Given the description of an element on the screen output the (x, y) to click on. 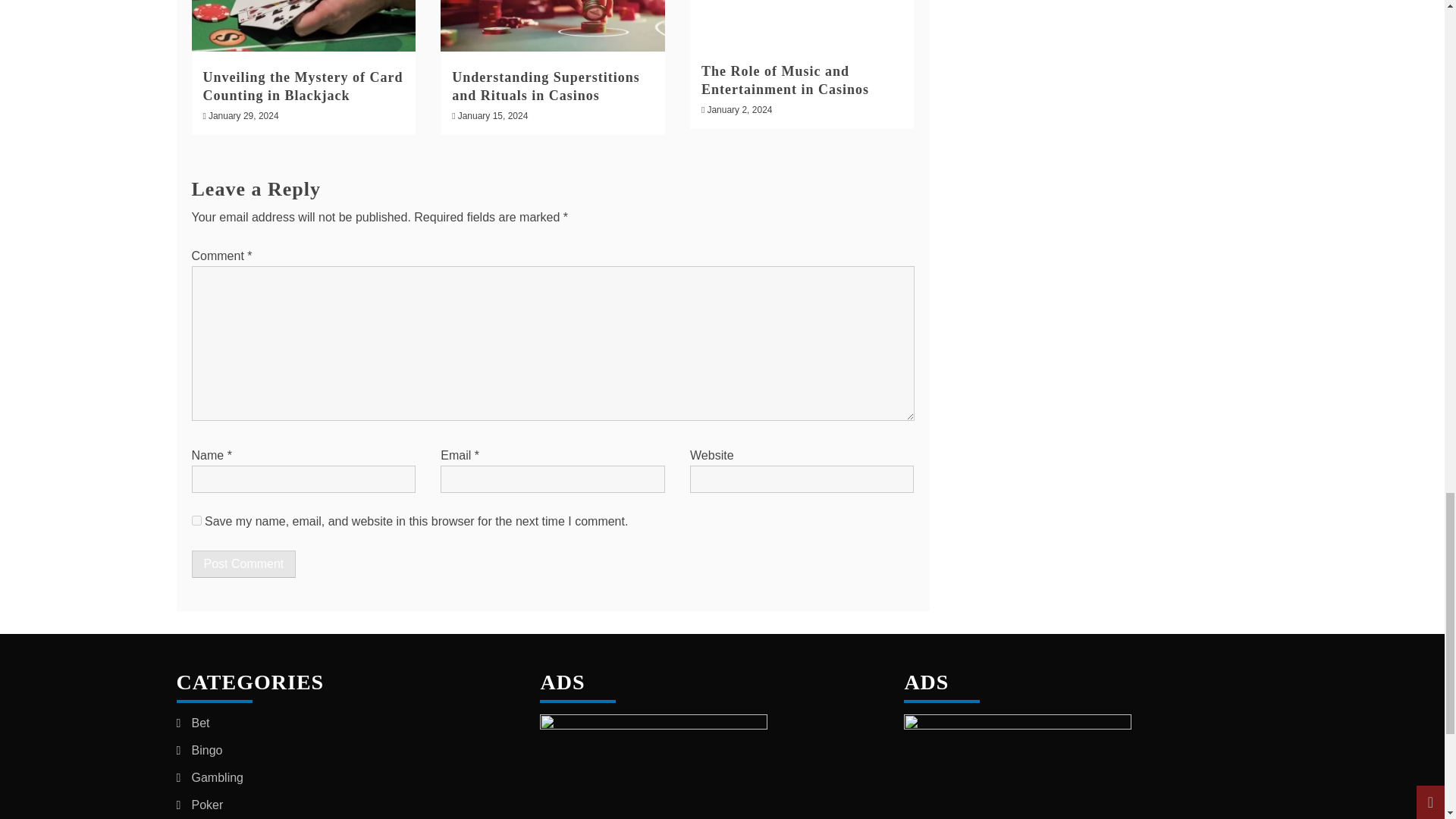
January 2, 2024 (738, 109)
Understanding Superstitions and Rituals in Casinos (545, 85)
yes (195, 520)
The Role of Music and Entertainment in Casinos (785, 79)
January 29, 2024 (243, 115)
January 15, 2024 (493, 115)
Unveiling the Mystery of Card Counting in Blackjack (303, 85)
Post Comment (242, 564)
Post Comment (242, 564)
